Given the description of an element on the screen output the (x, y) to click on. 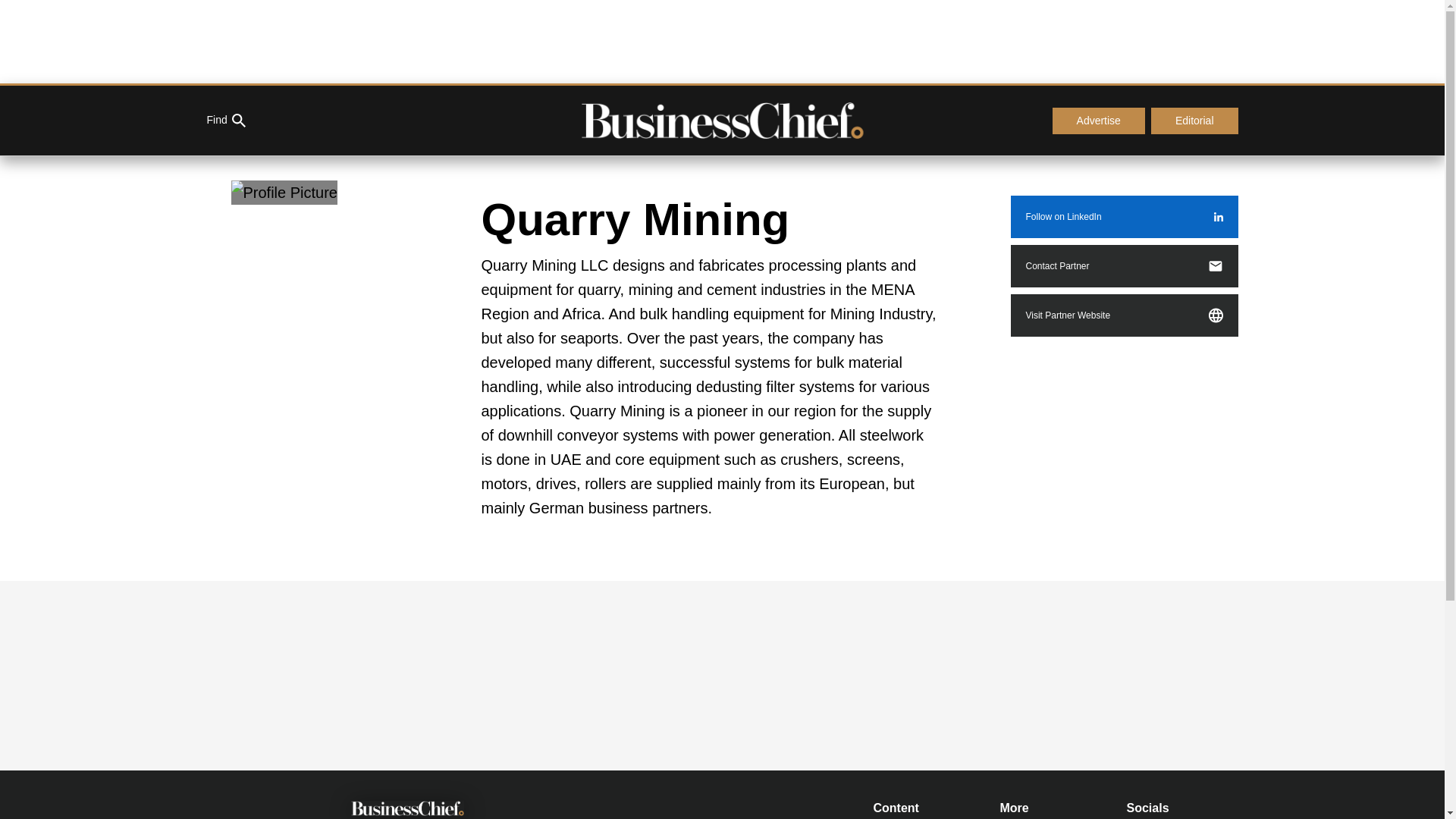
Visit Partner Website (1123, 315)
Follow on LinkedIn (1123, 216)
Contact Partner (1123, 265)
Advertise (1098, 121)
Editorial (1195, 121)
Find (225, 120)
